Given the description of an element on the screen output the (x, y) to click on. 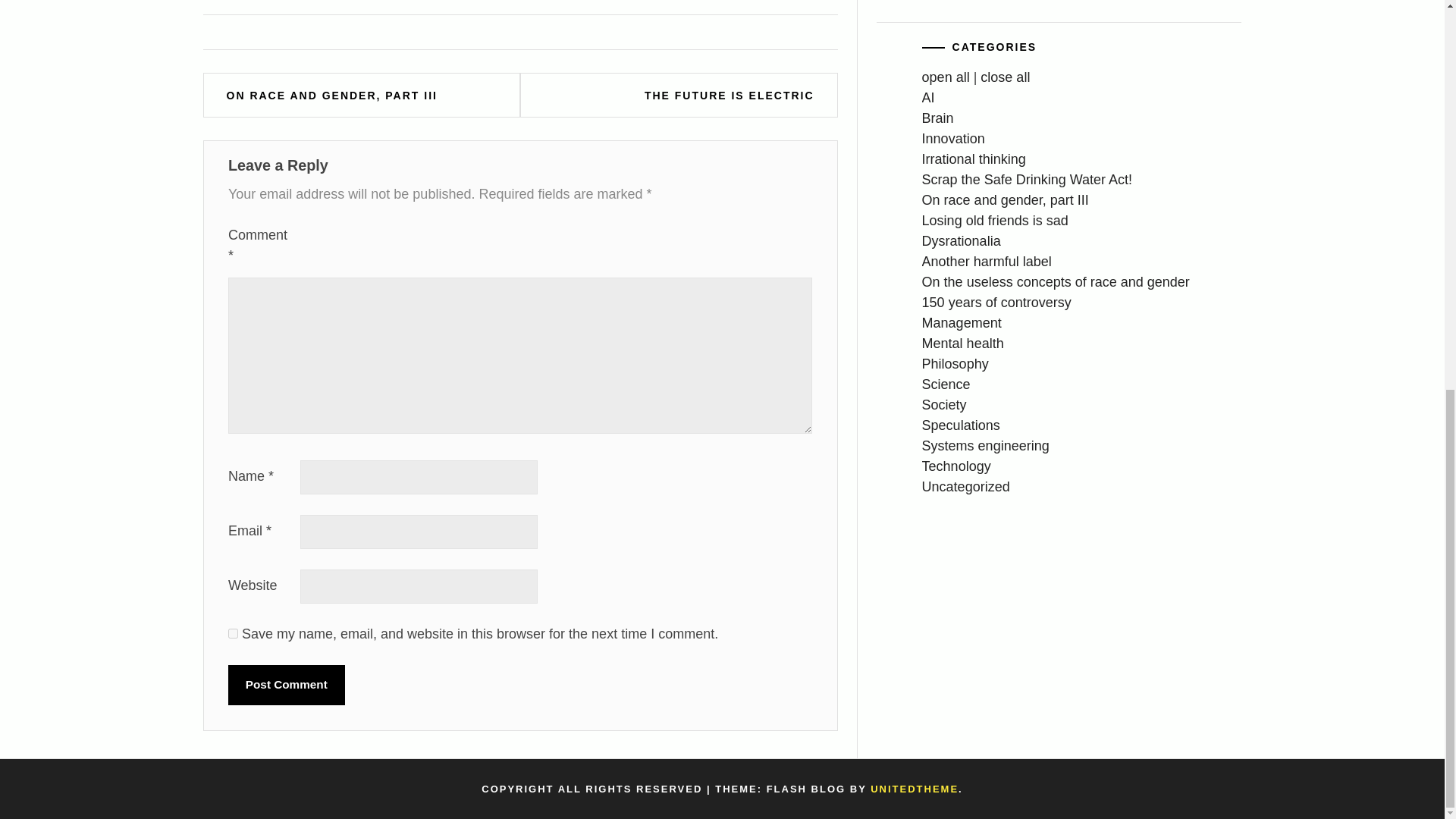
Brain (937, 118)
close all (1004, 77)
THE FUTURE IS ELECTRIC (729, 95)
Post Comment (286, 685)
Brain (937, 118)
open all (945, 77)
open all (945, 77)
Post Comment (286, 685)
ON RACE AND GENDER, PART III (331, 95)
yes (233, 633)
